Given the description of an element on the screen output the (x, y) to click on. 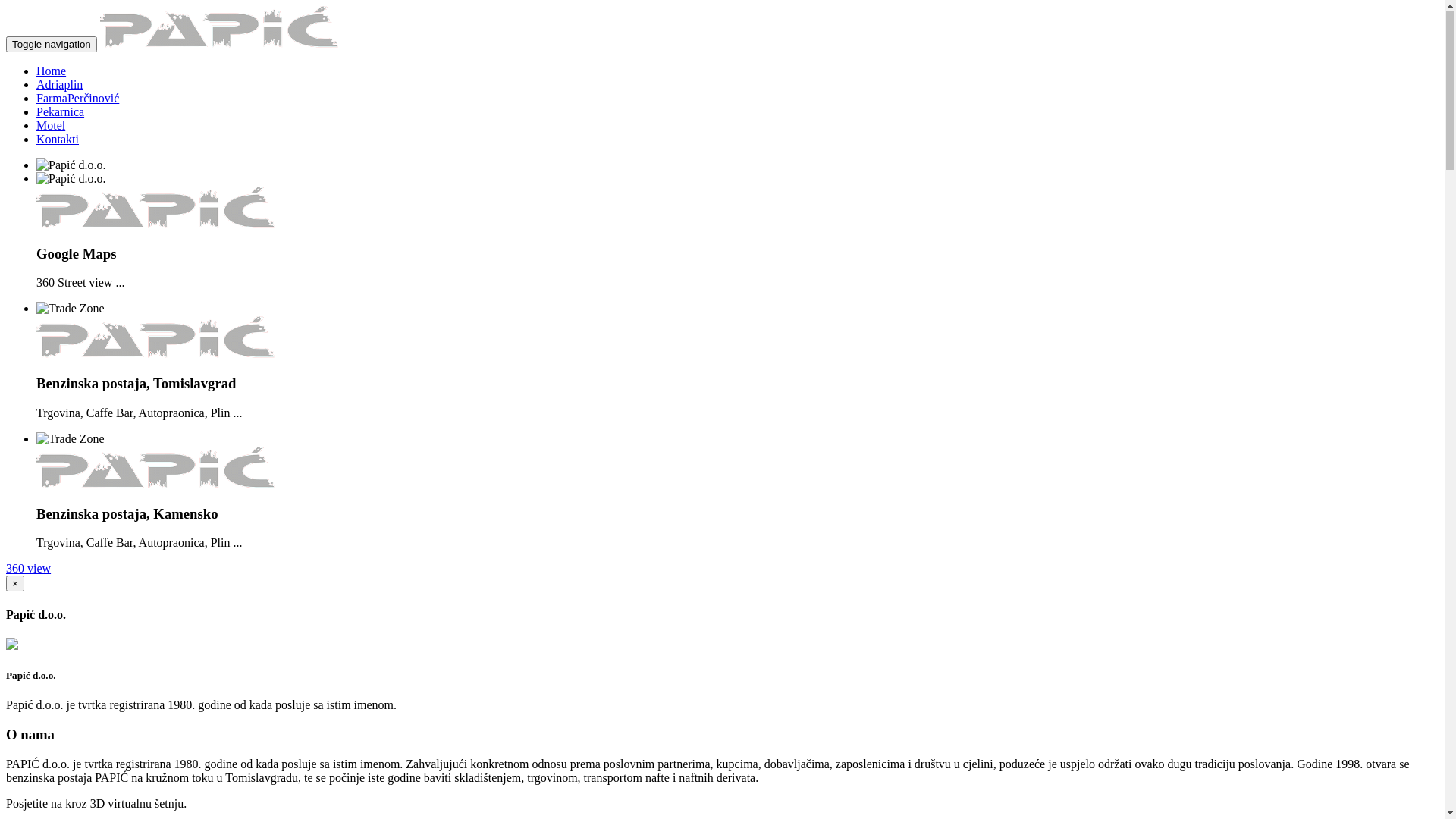
360 view Element type: text (28, 568)
Adriaplin Element type: text (59, 84)
Pekarnica Element type: text (60, 112)
Motel Element type: text (50, 125)
Home Element type: text (50, 71)
Kontakti Element type: text (57, 139)
Toggle navigation Element type: text (51, 45)
